Given the description of an element on the screen output the (x, y) to click on. 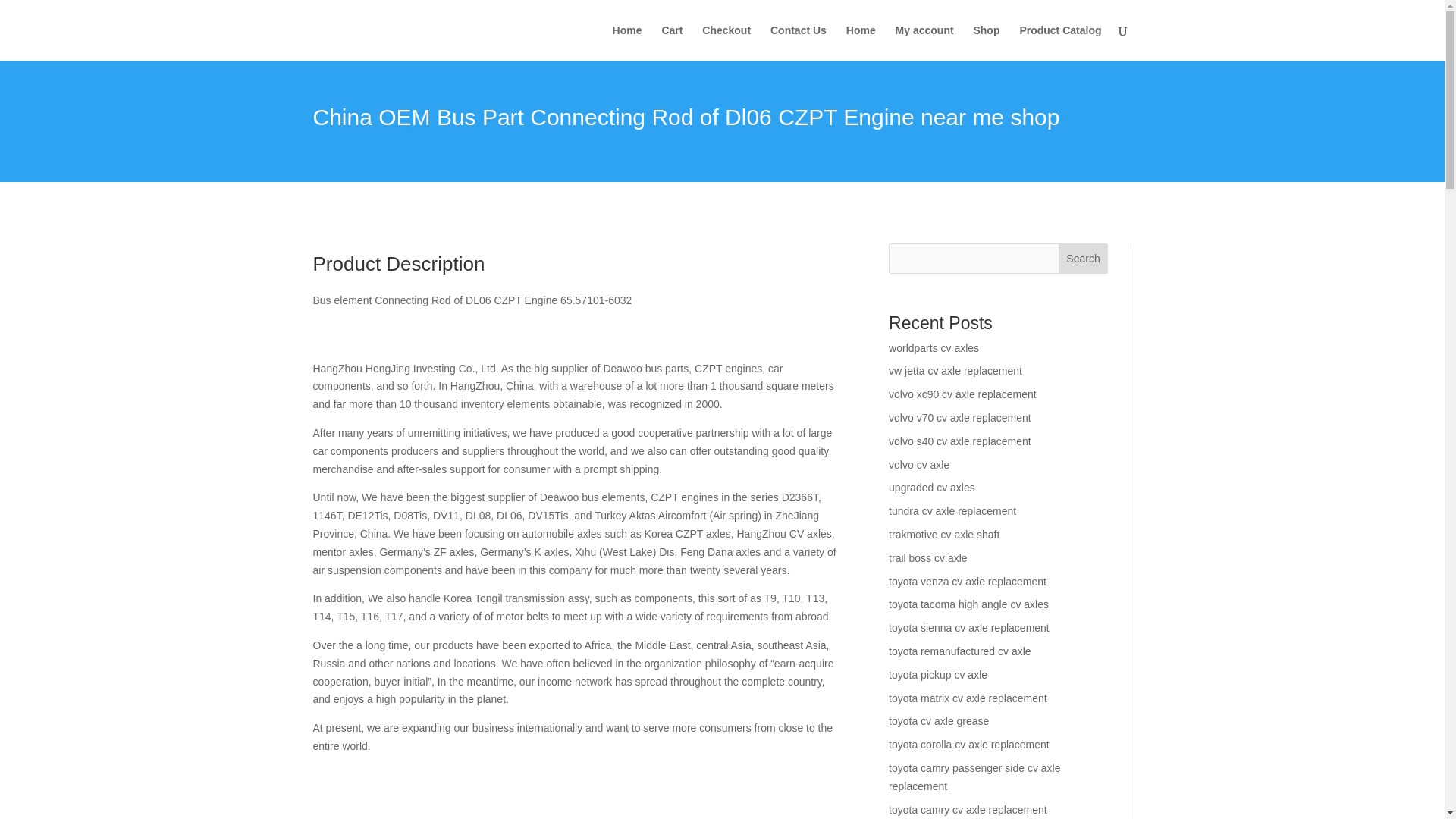
toyota remanufactured cv axle (959, 651)
toyota matrix cv axle replacement (967, 698)
volvo s40 cv axle replacement (959, 440)
vw jetta cv axle replacement (955, 370)
toyota tacoma high angle cv axles (968, 604)
Checkout (726, 42)
toyota camry cv axle replacement (967, 809)
toyota corolla cv axle replacement (968, 744)
tundra cv axle replacement (952, 510)
Product Catalog (1059, 42)
